Given the description of an element on the screen output the (x, y) to click on. 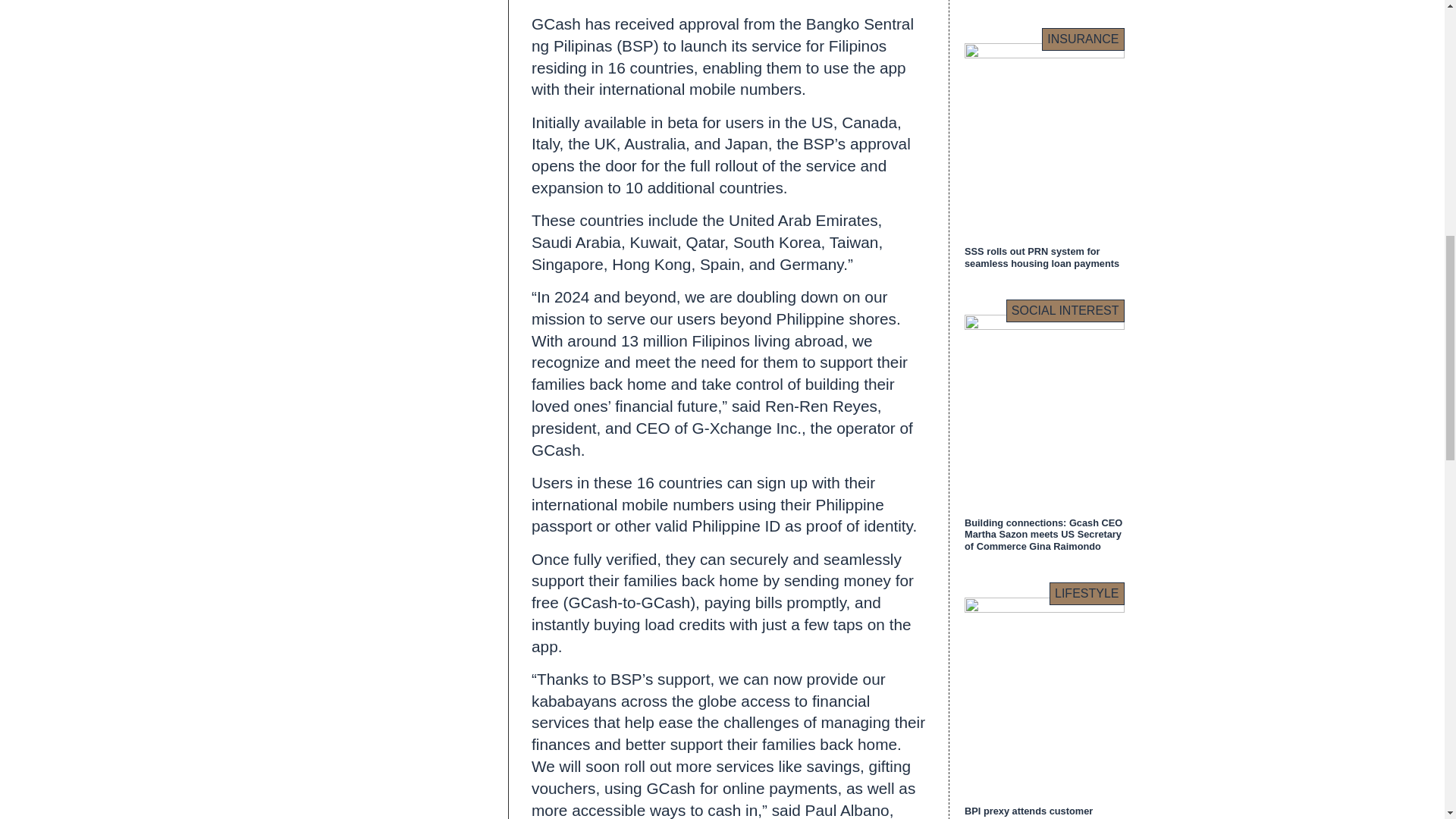
SSS rolls out PRN system for seamless housing loan payments (1041, 256)
INSURANCE (1083, 38)
